Given the description of an element on the screen output the (x, y) to click on. 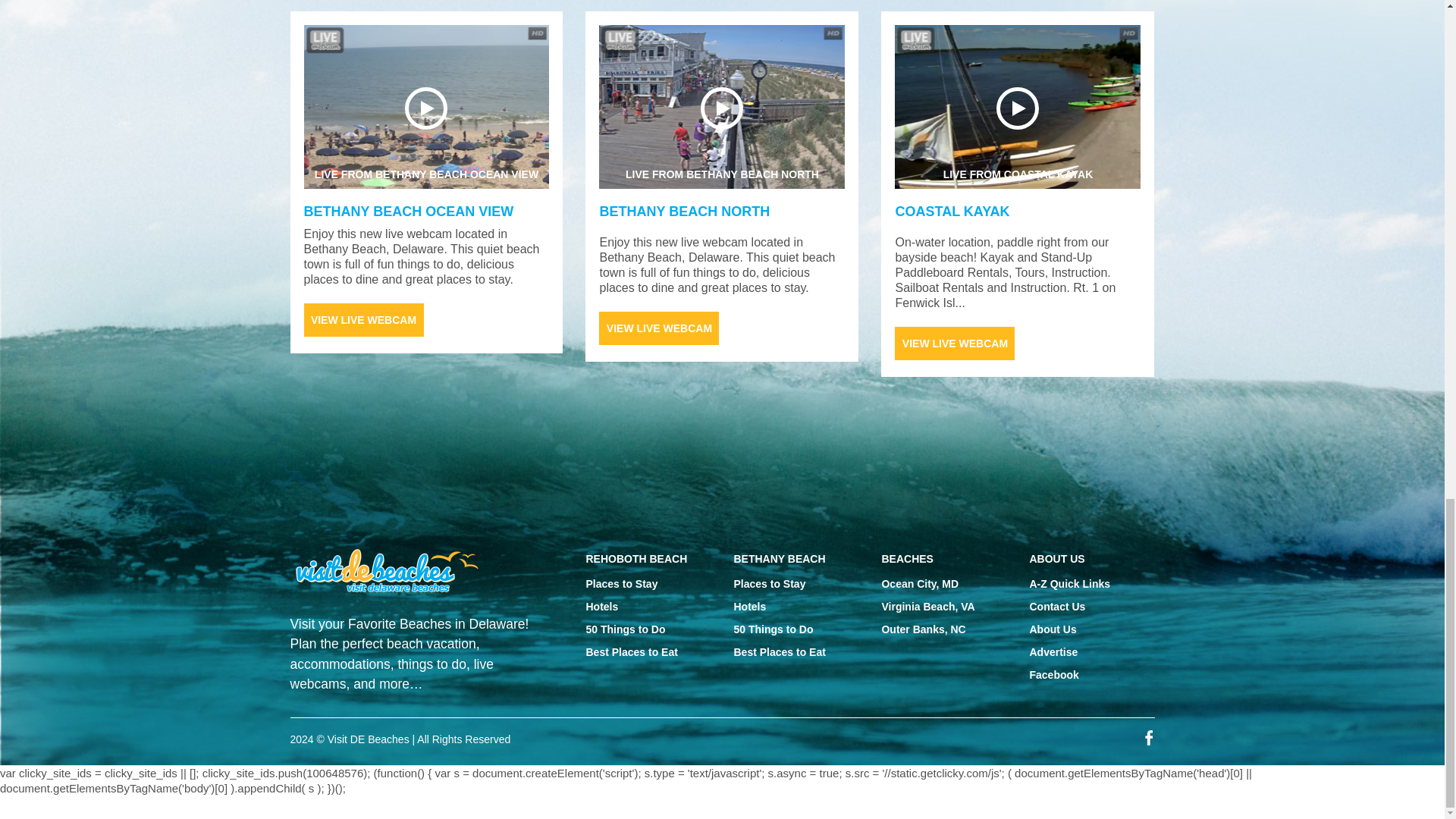
VIEW LIVE WEBCAM (362, 319)
BETHANY BEACH NORTH (425, 106)
BETHANY BEACH OCEAN VIEW (684, 210)
VIEW LIVE WEBCAM (407, 210)
COASTAL KAYAK (1017, 106)
